Given the description of an element on the screen output the (x, y) to click on. 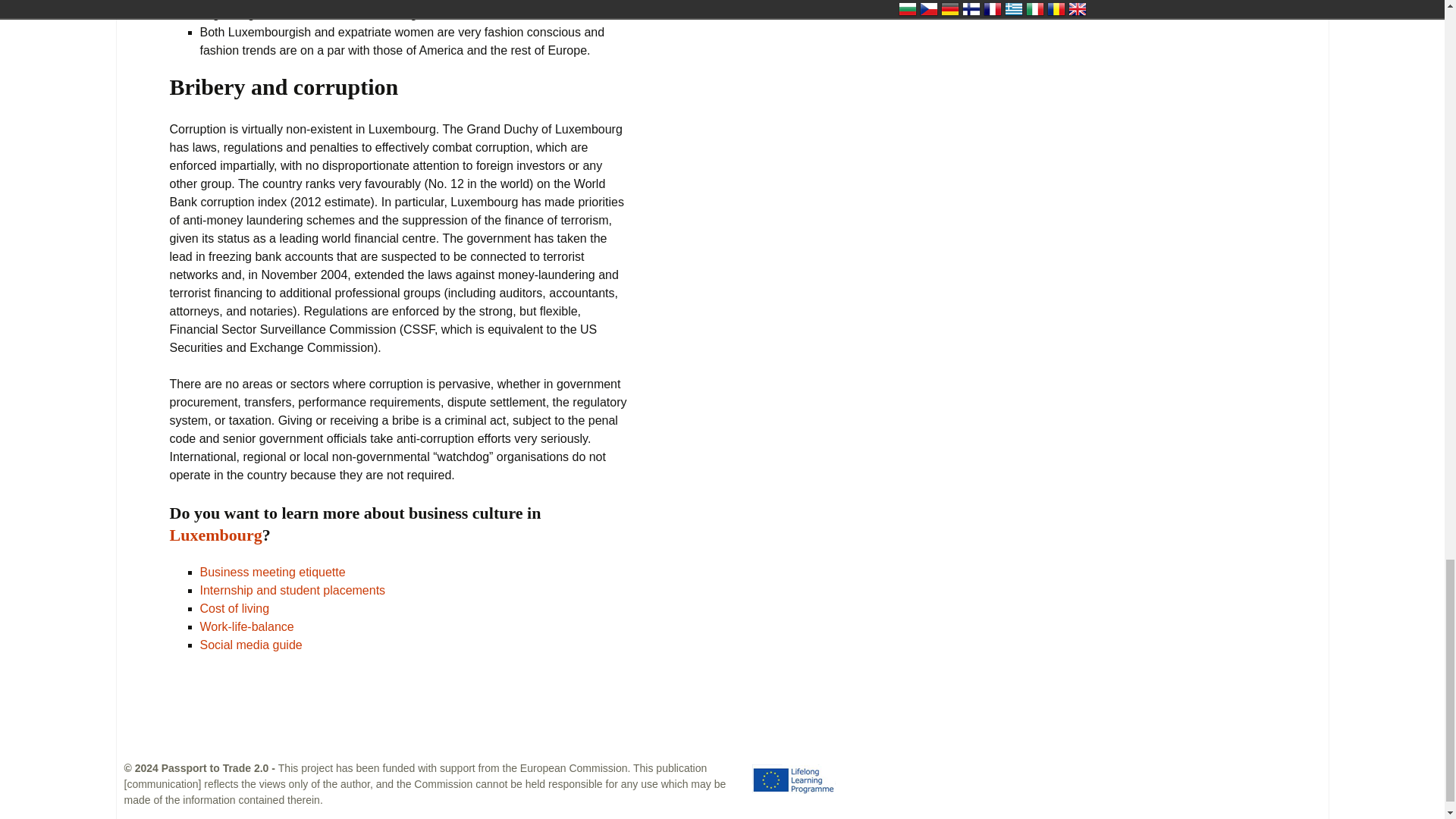
internship and student placement in Luxembourg (292, 590)
Meeting etiquette in Luxembourg (273, 571)
Cost of Living in Luxembourg (234, 608)
Social media guide for Luxembourg (251, 644)
Work Life balance in Luxembourg (247, 626)
